Given the description of an element on the screen output the (x, y) to click on. 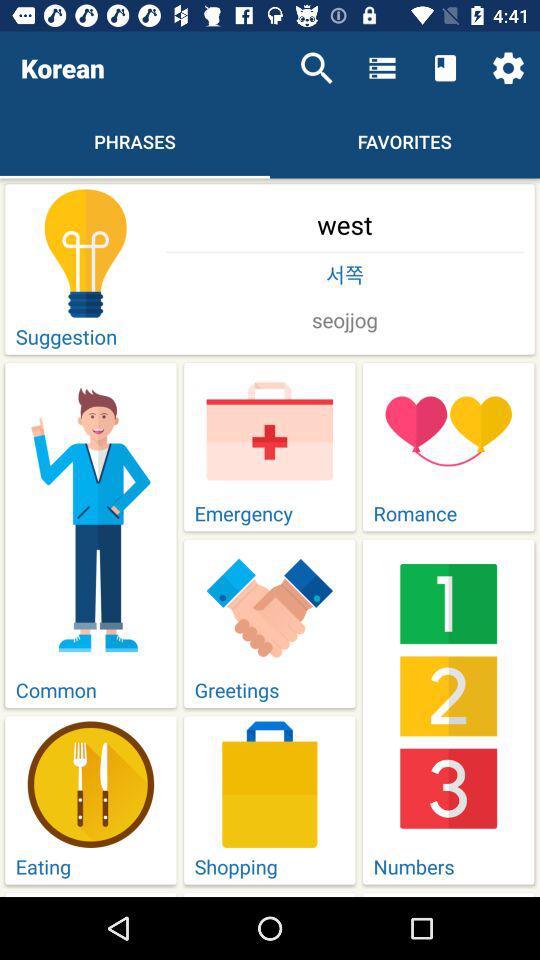
press icon to the right of korean item (316, 67)
